Given the description of an element on the screen output the (x, y) to click on. 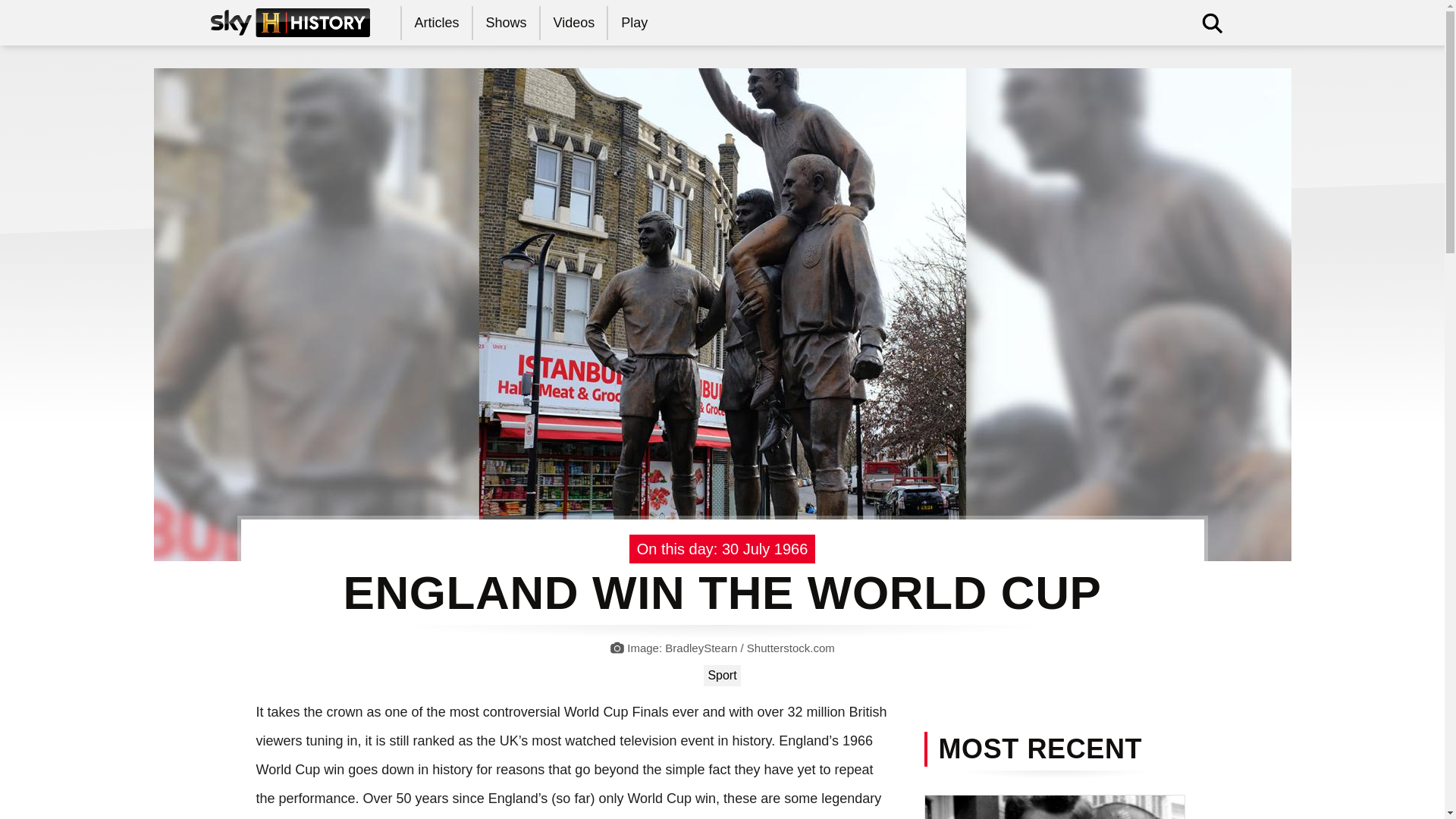
Search (987, 69)
Videos (575, 22)
Shows (507, 22)
Play (635, 22)
Home (290, 22)
Sport (721, 675)
Articles (437, 22)
HISTORY Play - Stream the best of HISTORY (635, 22)
